Given the description of an element on the screen output the (x, y) to click on. 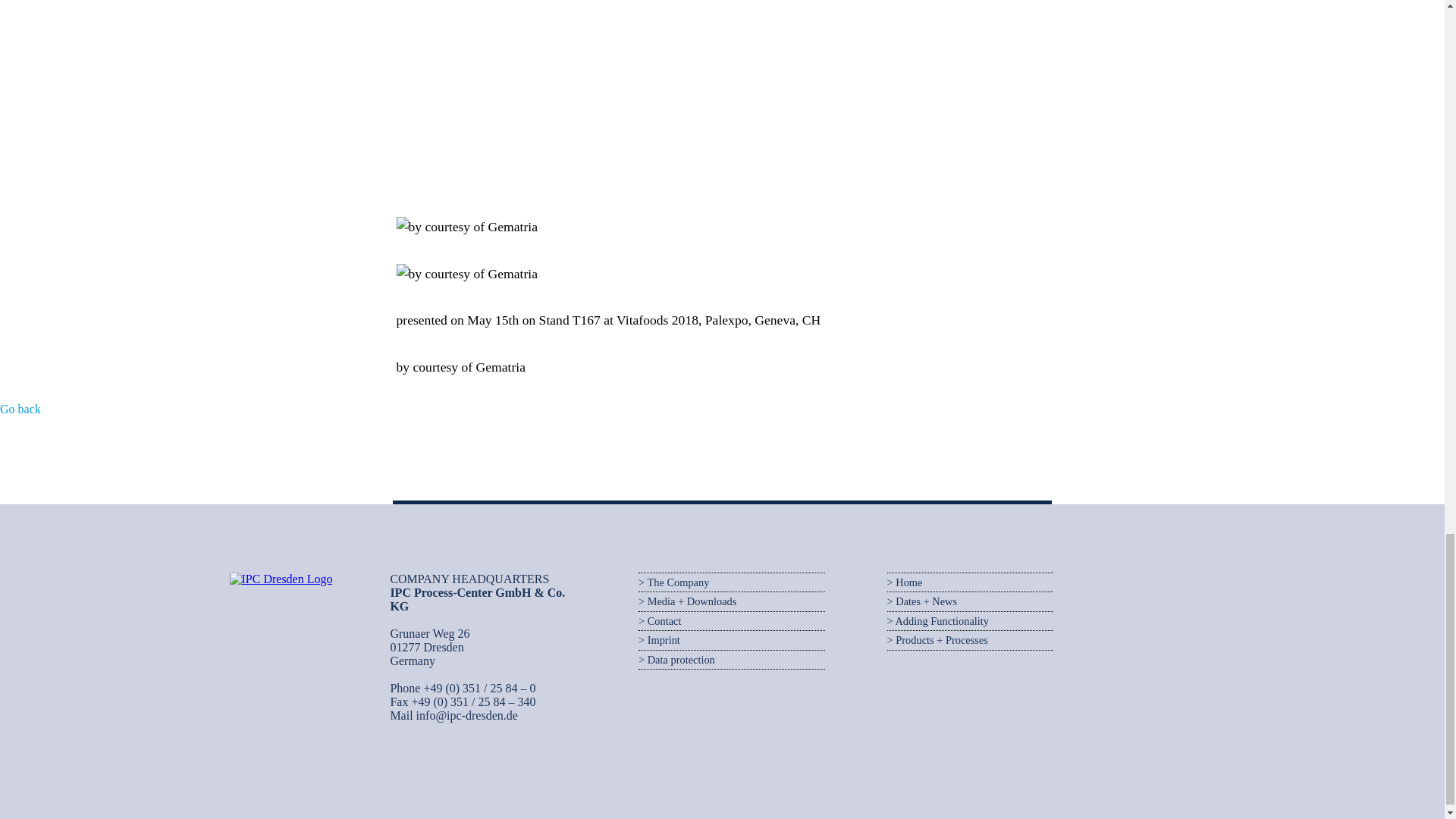
Go back (20, 408)
